Given the description of an element on the screen output the (x, y) to click on. 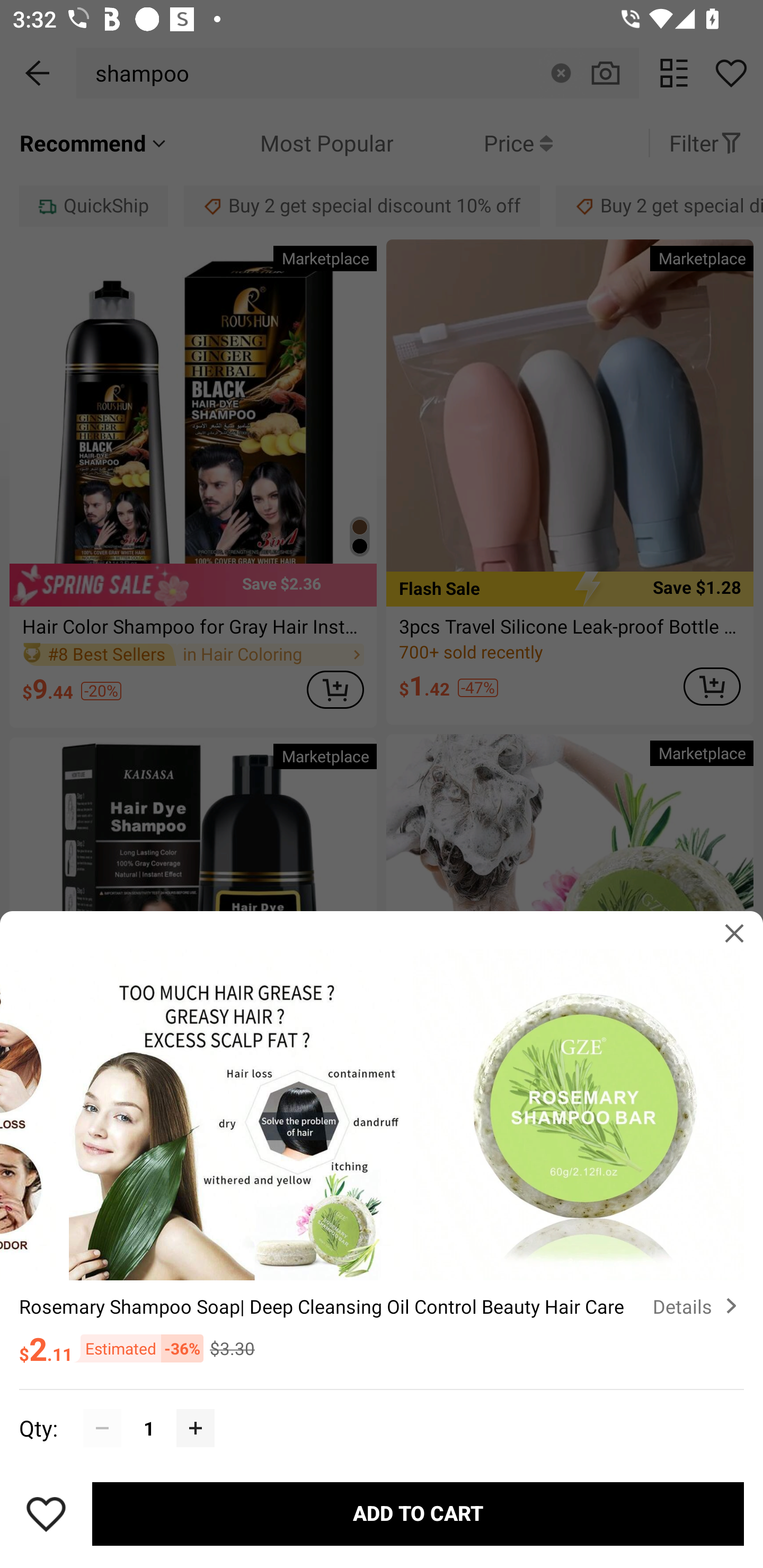
Details (698, 1305)
Estimated -36% (137, 1348)
ADD TO CART (417, 1513)
Save (46, 1513)
